Given the description of an element on the screen output the (x, y) to click on. 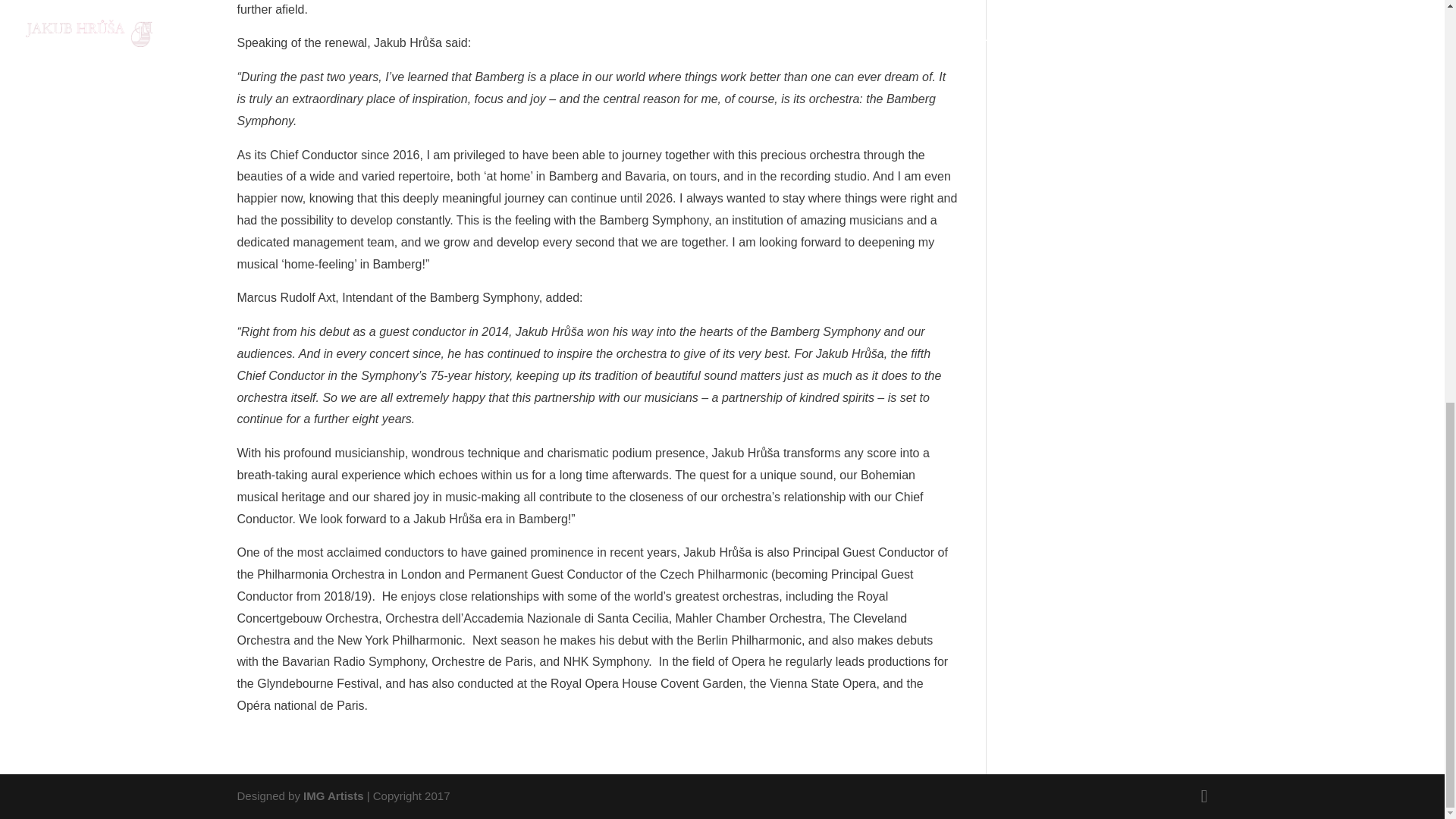
IMG Artists (332, 795)
